Given the description of an element on the screen output the (x, y) to click on. 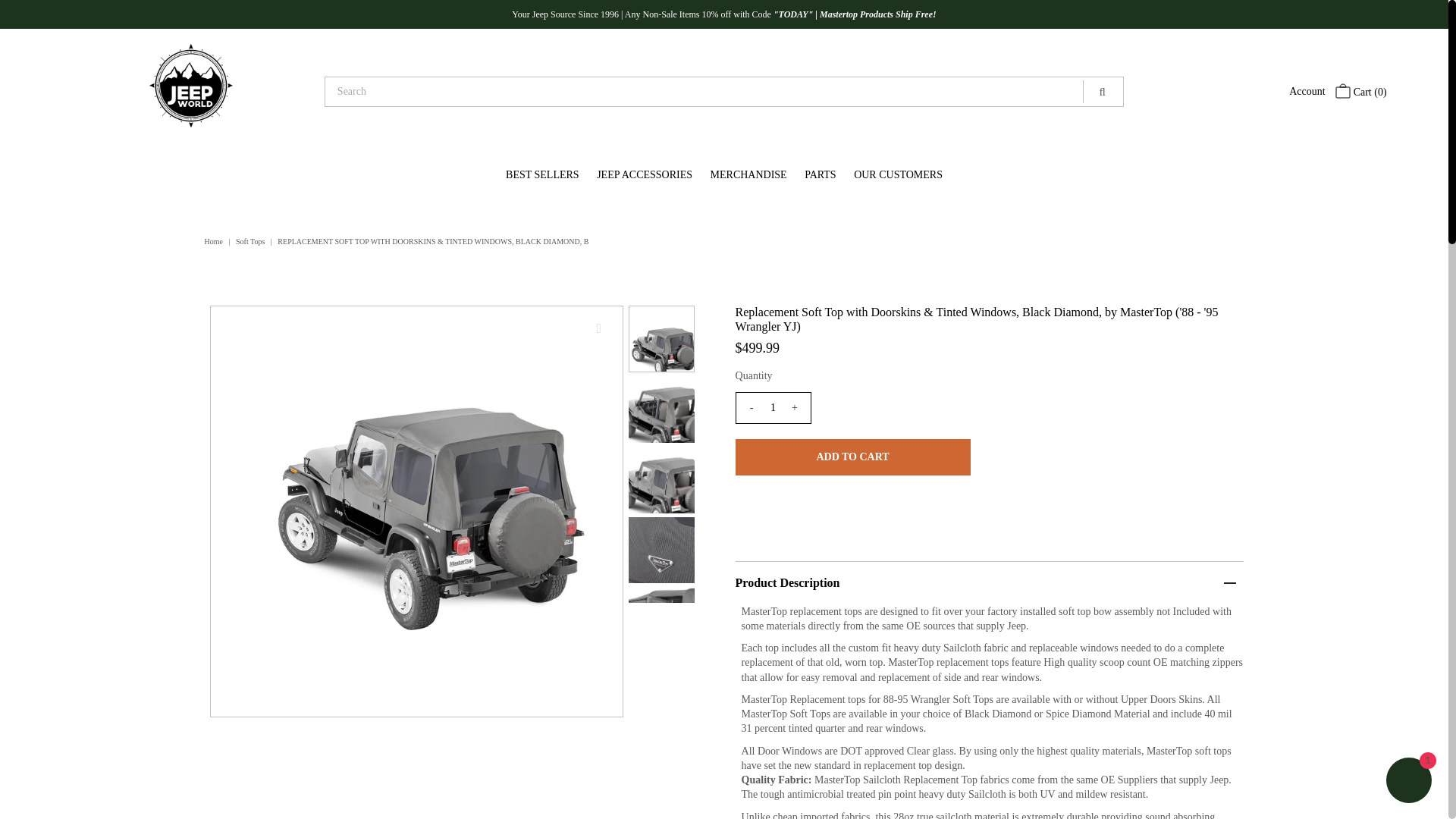
OUR CUSTOMERS (897, 174)
MERCHANDISE (748, 174)
1 (772, 408)
Mastertop Products Ship Free! (877, 14)
click to zoom-in (598, 329)
Soft Tops (251, 241)
Soft Tops (251, 241)
Account (1306, 91)
Home (216, 241)
JEEP ACCESSORIES (644, 174)
Add to Cart (853, 456)
PARTS (819, 174)
Mastertop Free Shipping (877, 14)
- (751, 408)
BEST SELLERS (541, 174)
